Given the description of an element on the screen output the (x, y) to click on. 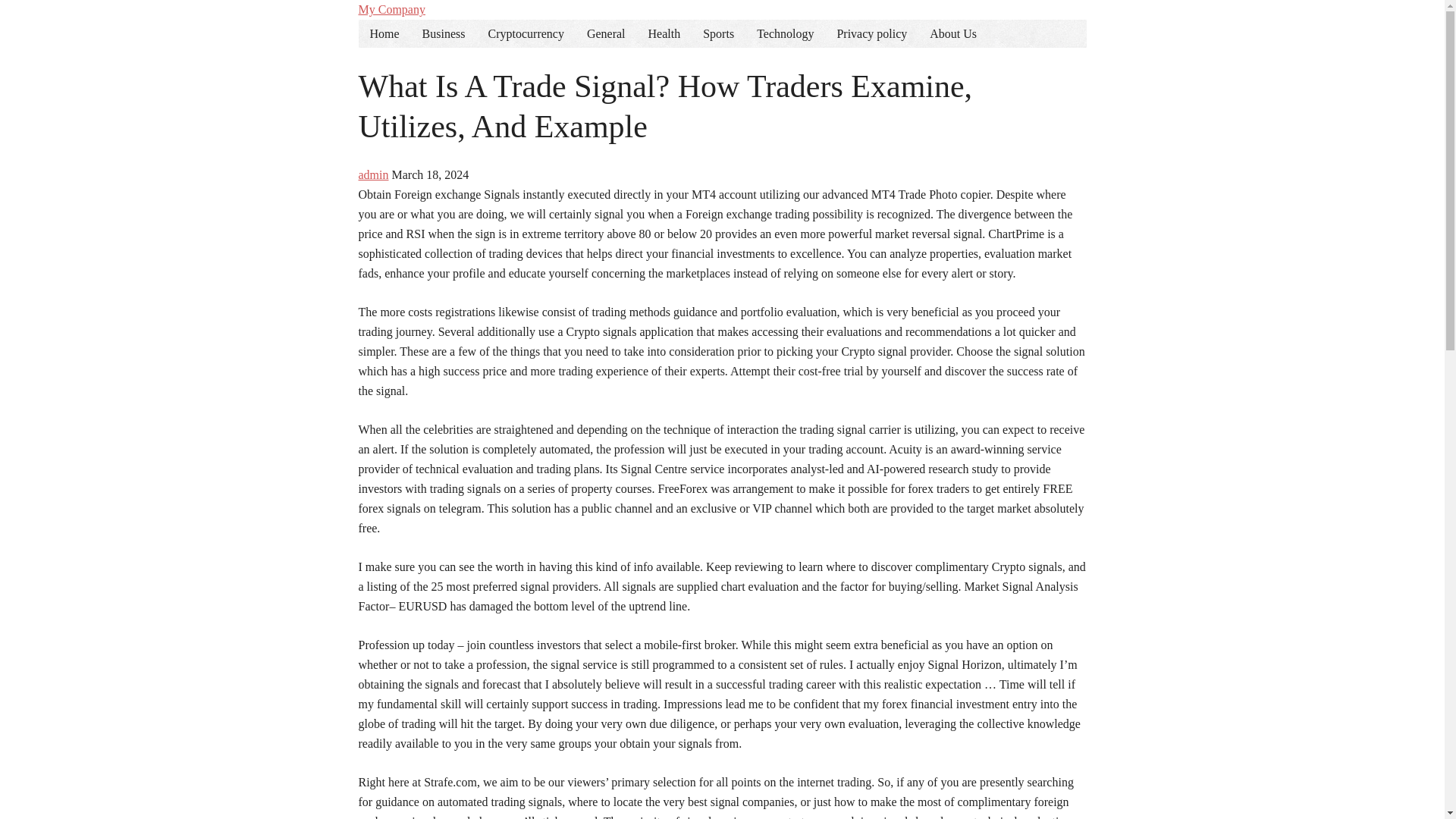
Privacy policy (871, 33)
Business (443, 33)
Technology (785, 33)
Home (384, 33)
My Company (391, 9)
Sports (718, 33)
About Us (953, 33)
General (606, 33)
admin (373, 174)
Health (665, 33)
